Given the description of an element on the screen output the (x, y) to click on. 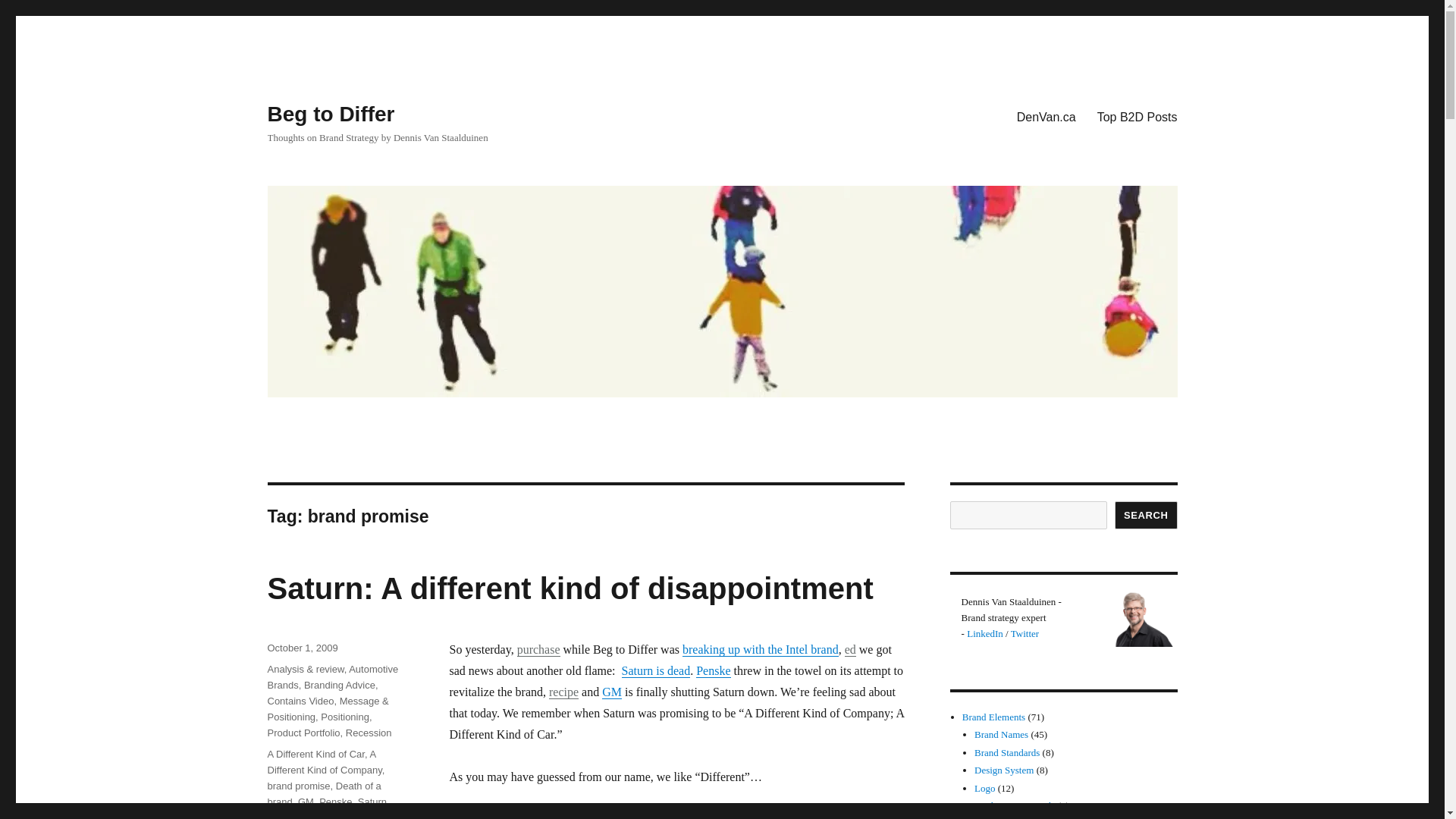
GM (306, 801)
purchase (538, 649)
Automotive Brands (331, 677)
recipe (563, 691)
A Different Kind of Car (315, 754)
DenVan.ca (1046, 116)
Top B2D Posts (1137, 116)
Beg to Differ (330, 114)
breaking up with the Intel brand (760, 649)
Saturn (372, 801)
